Given the description of an element on the screen output the (x, y) to click on. 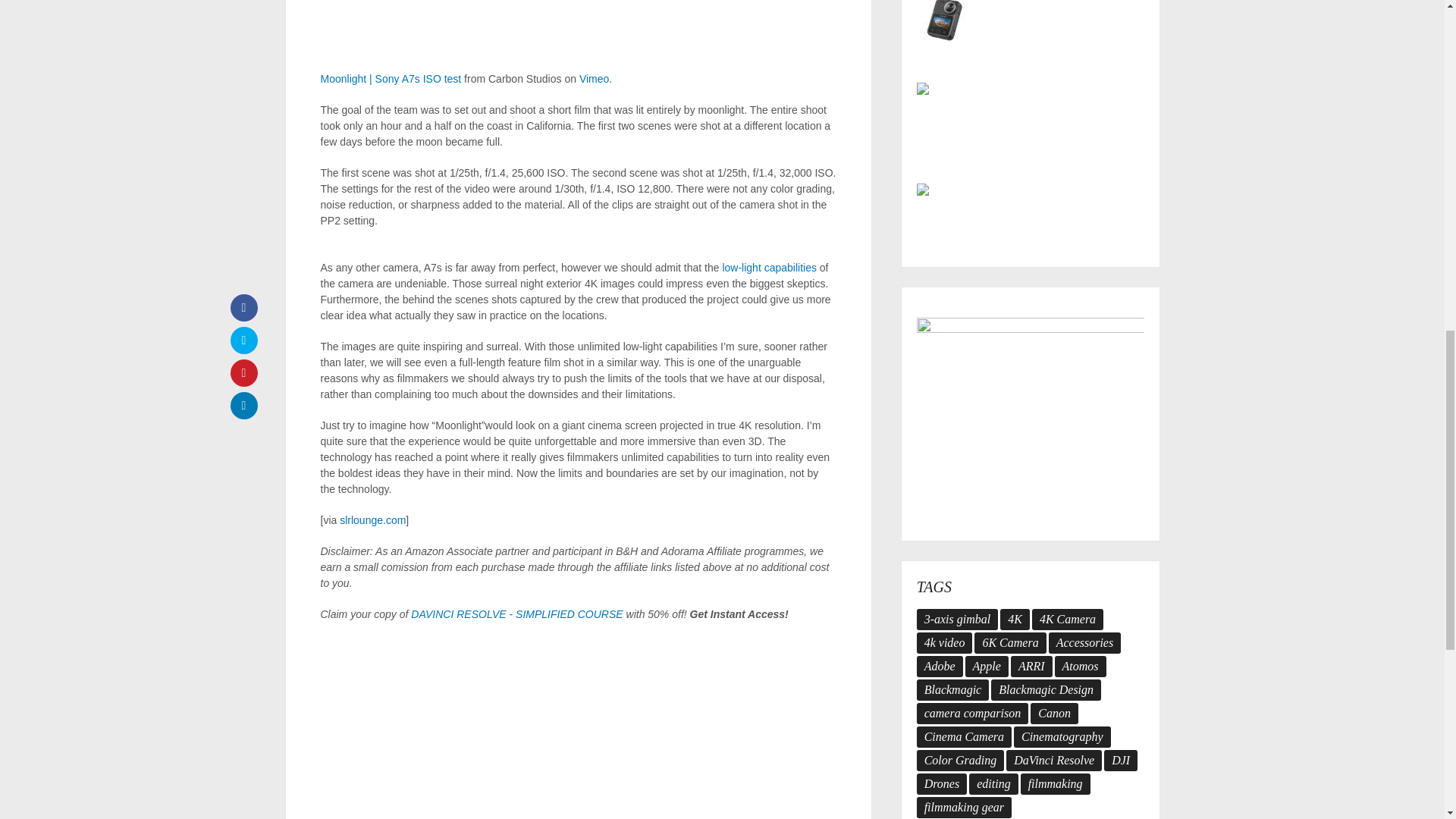
Vimeo (593, 78)
DAVINCI RESOLVE - SIMPLIFIED COURSE (516, 613)
slrlounge.com (372, 520)
low-light capabilities (769, 267)
